Given the description of an element on the screen output the (x, y) to click on. 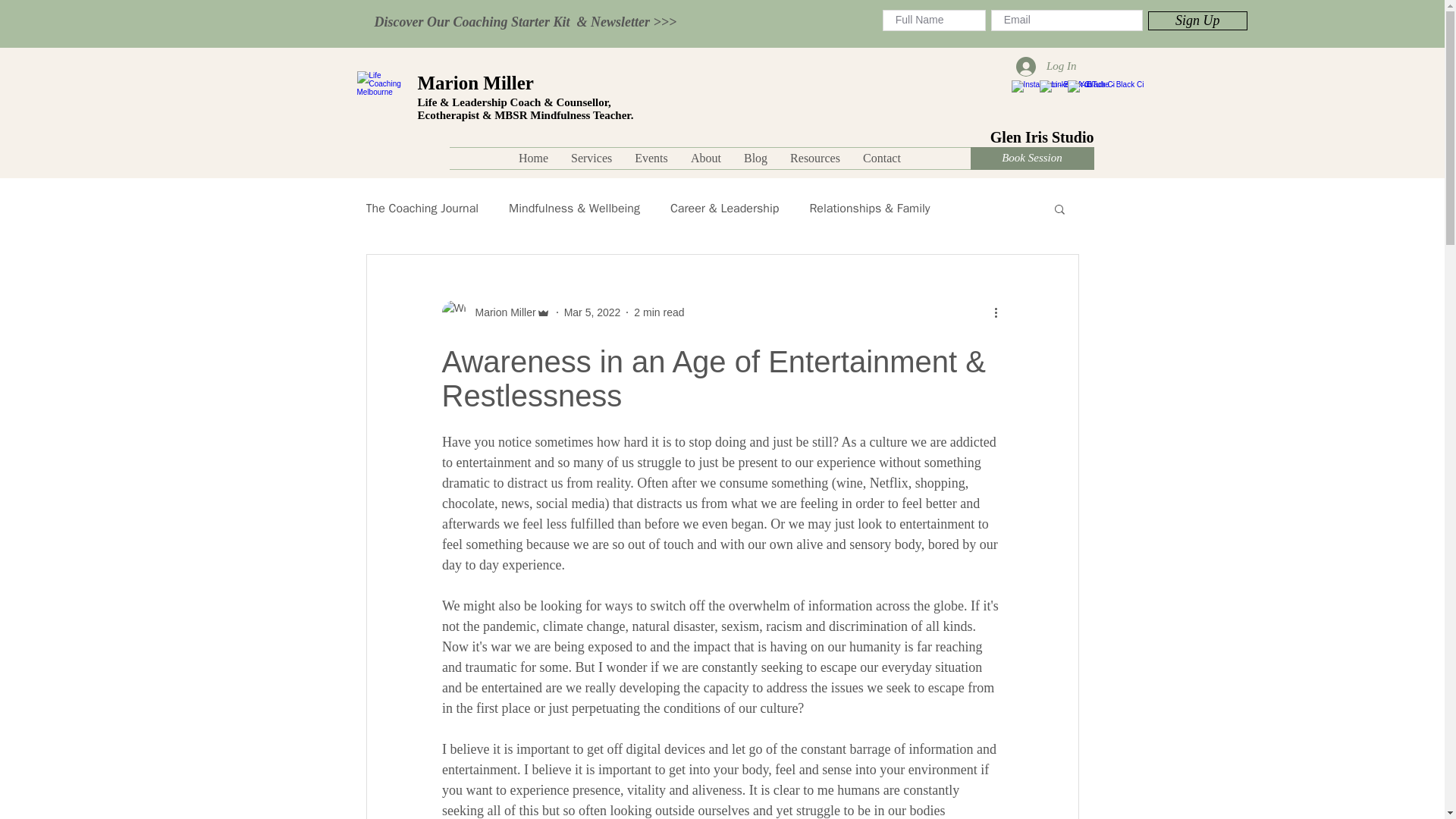
The Coaching Journal (422, 207)
Contact (881, 158)
Home (532, 158)
Marion Miller (500, 312)
Log In (1046, 66)
About (705, 158)
Events (651, 158)
Sign Up (1197, 20)
Blog (755, 158)
Resources (814, 158)
